Given the description of an element on the screen output the (x, y) to click on. 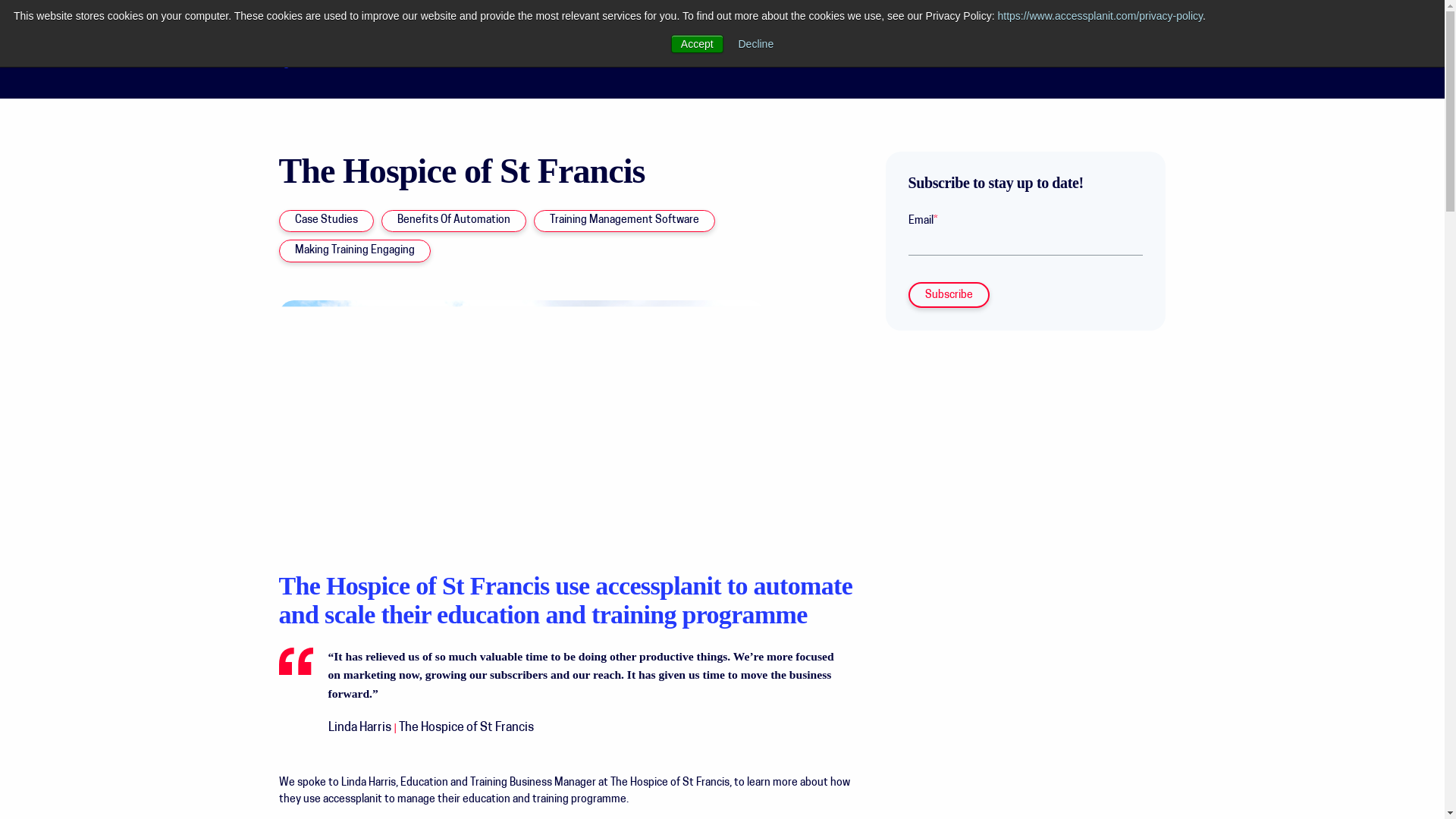
Subscribe (949, 294)
Accept (697, 44)
Decline (756, 43)
